Given the description of an element on the screen output the (x, y) to click on. 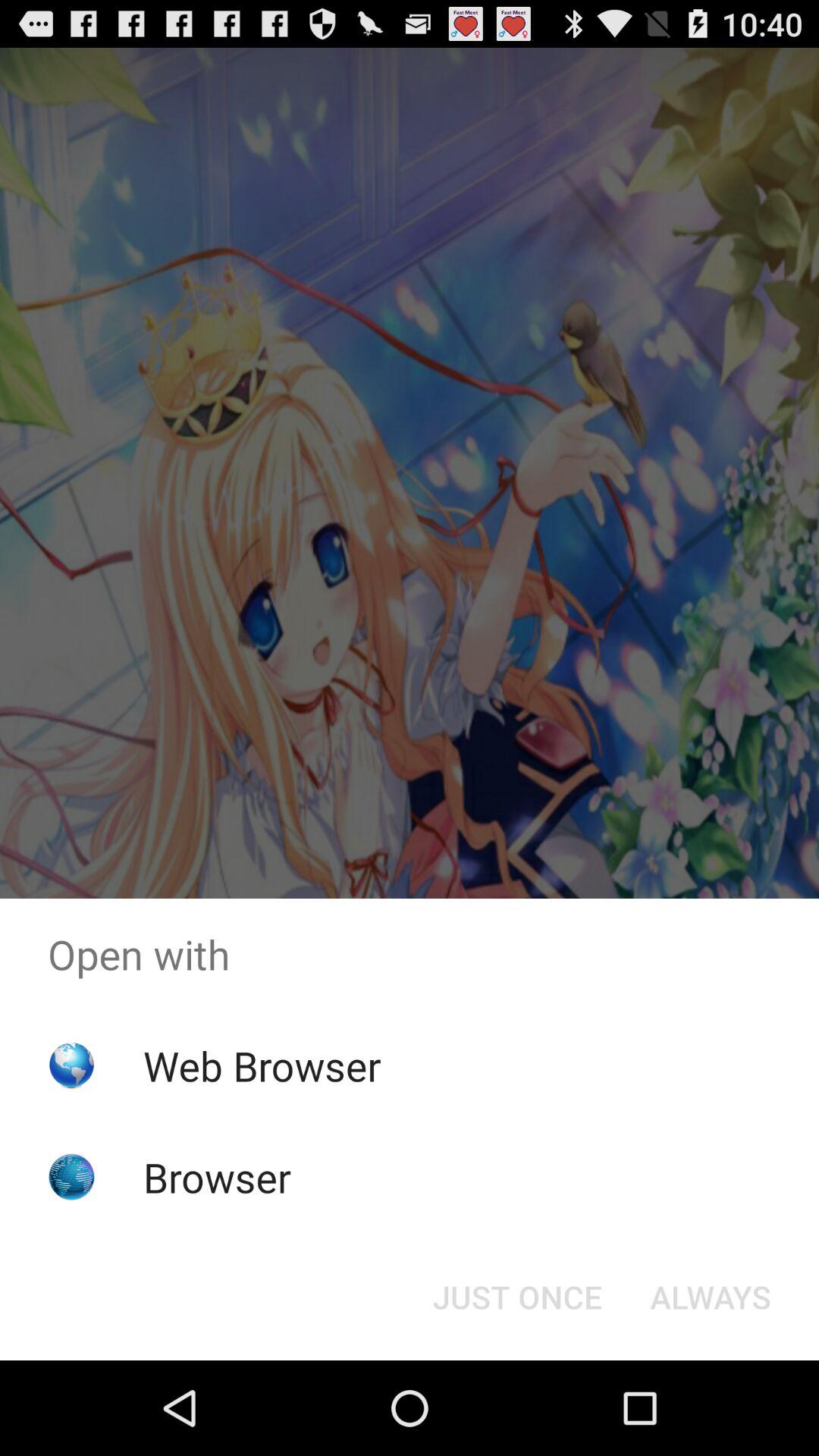
turn off item above the browser (262, 1065)
